Given the description of an element on the screen output the (x, y) to click on. 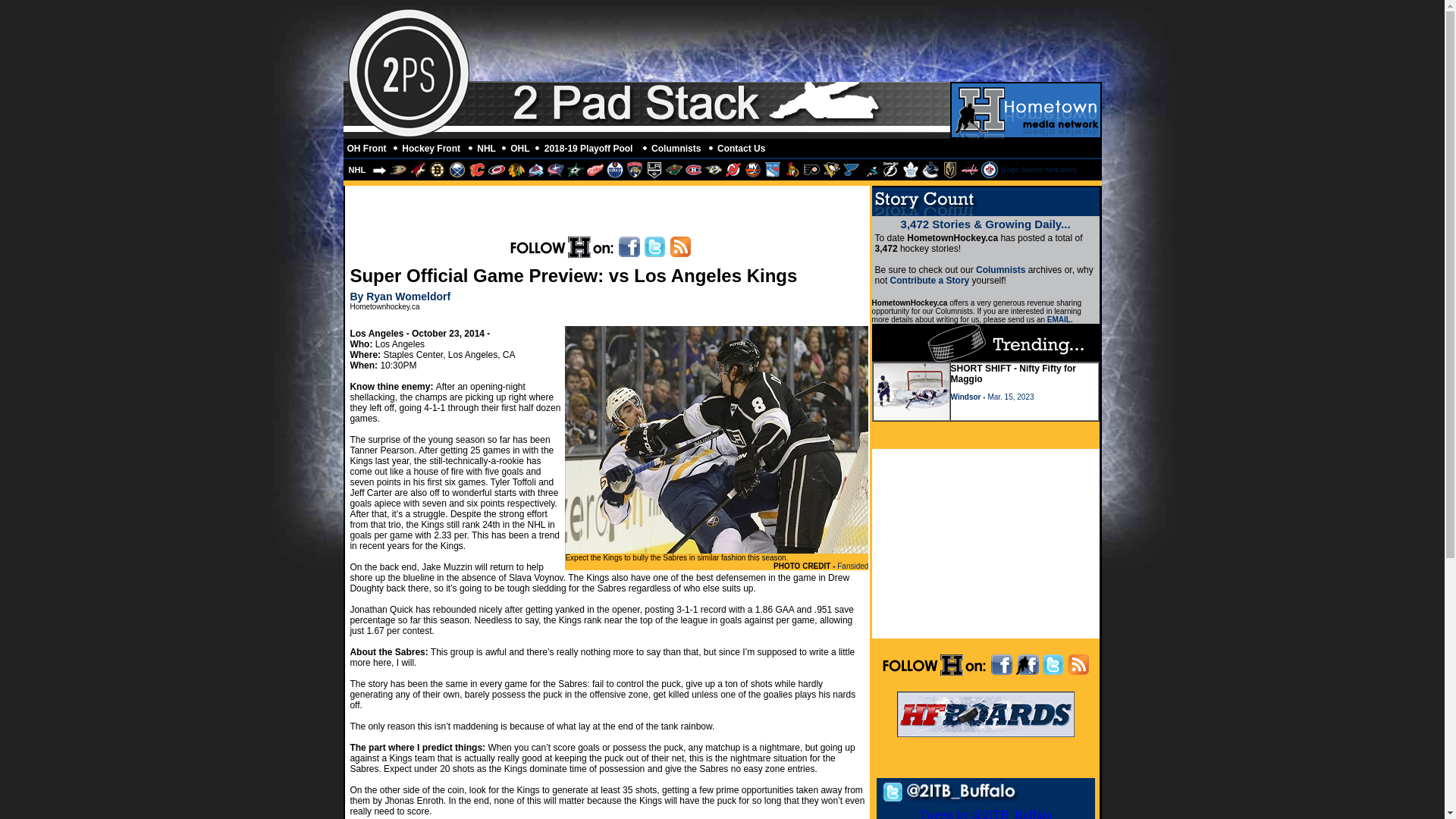
NHL (486, 148)
Columnists (677, 148)
Hockey Front (432, 148)
Advertisement (606, 209)
Advertisement (824, 43)
Contact Us (742, 148)
OH Front (367, 148)
2018-19 Playoff Pool (591, 148)
Advertisement (985, 543)
OHL (521, 148)
